Given the description of an element on the screen output the (x, y) to click on. 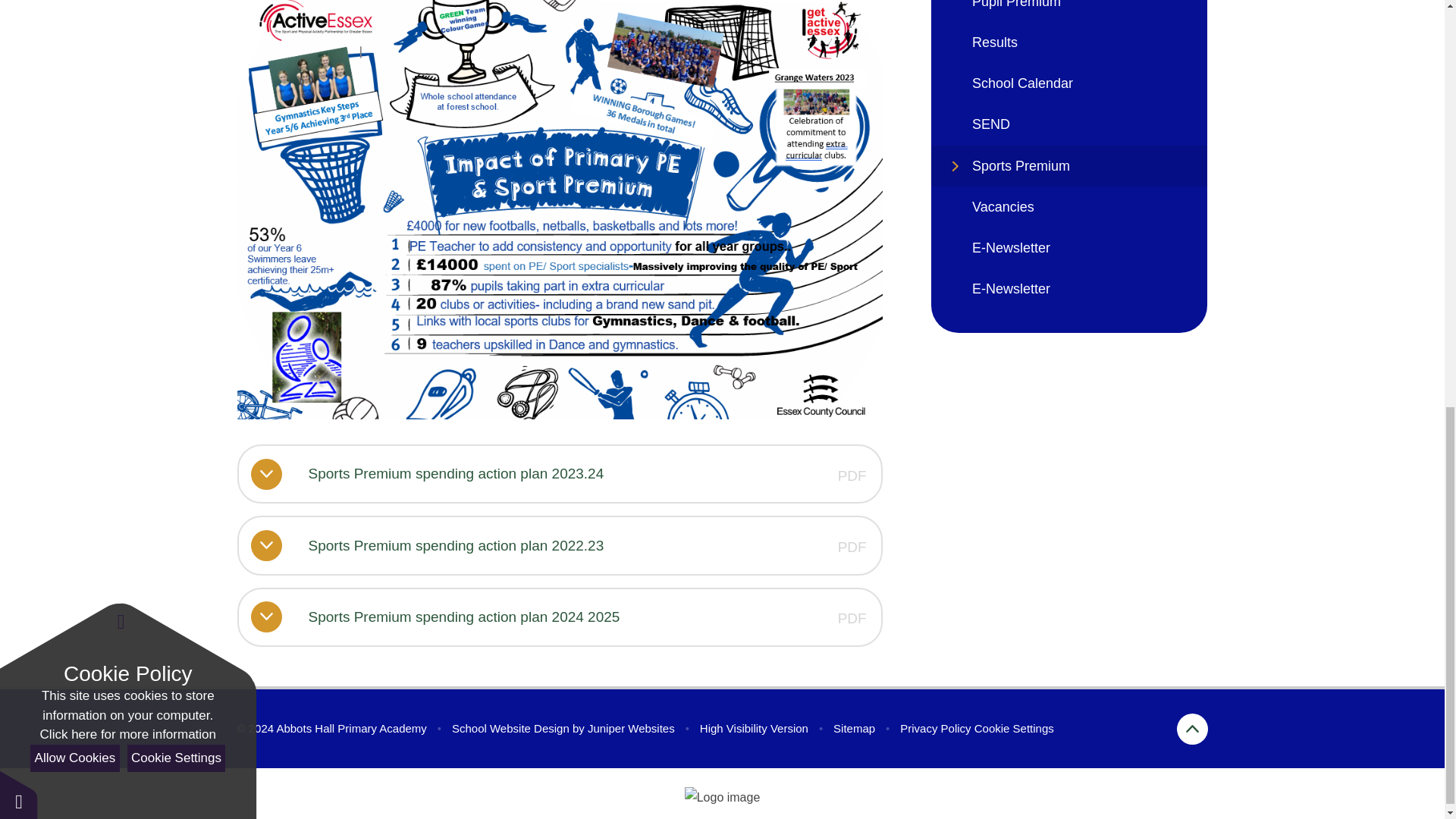
Cookie Settings (1014, 727)
